Given the description of an element on the screen output the (x, y) to click on. 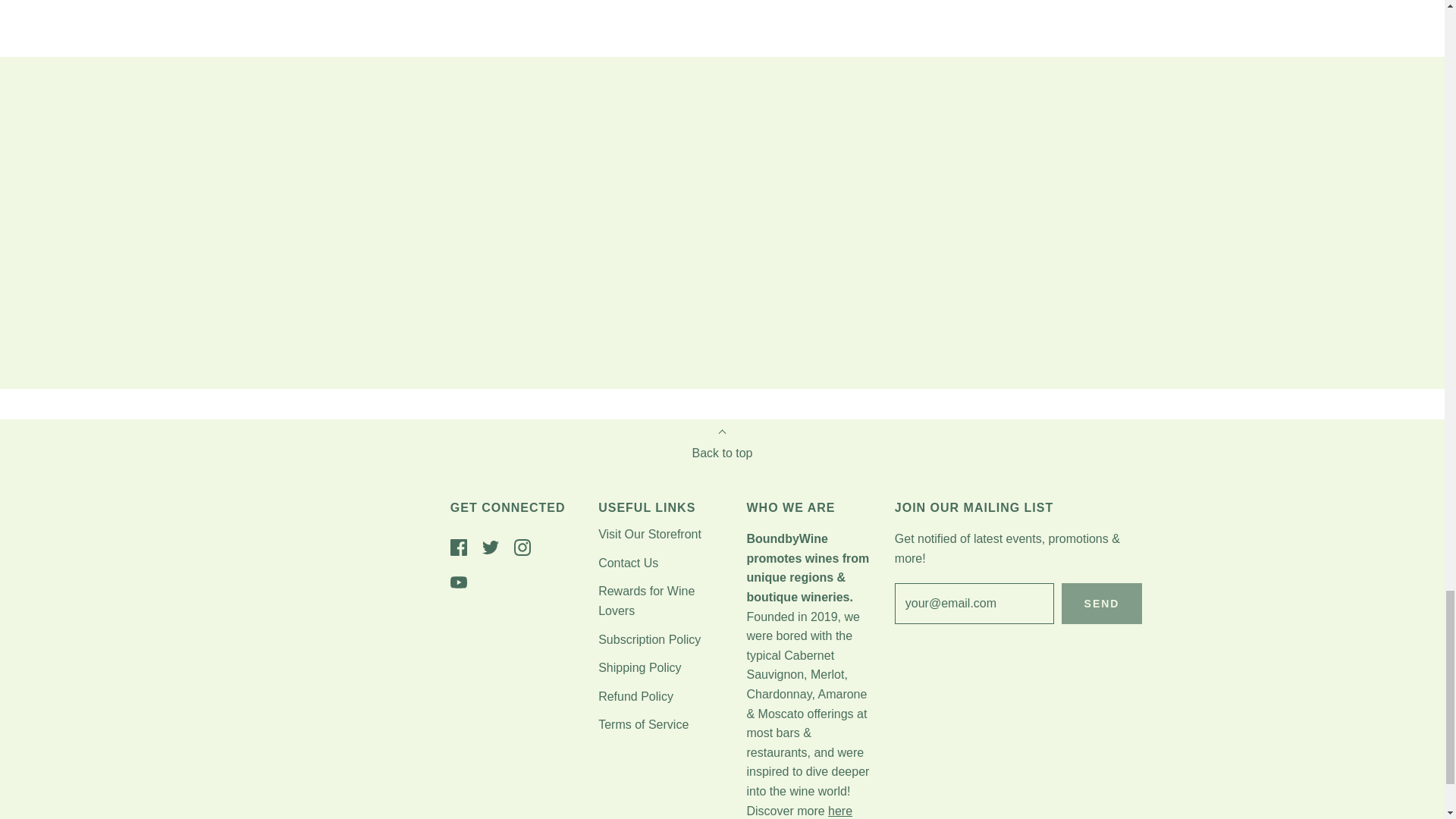
Twitter icon (490, 547)
Facebook icon (458, 547)
Instagram icon (522, 547)
About Us (839, 810)
YouTube icon (458, 582)
